Given the description of an element on the screen output the (x, y) to click on. 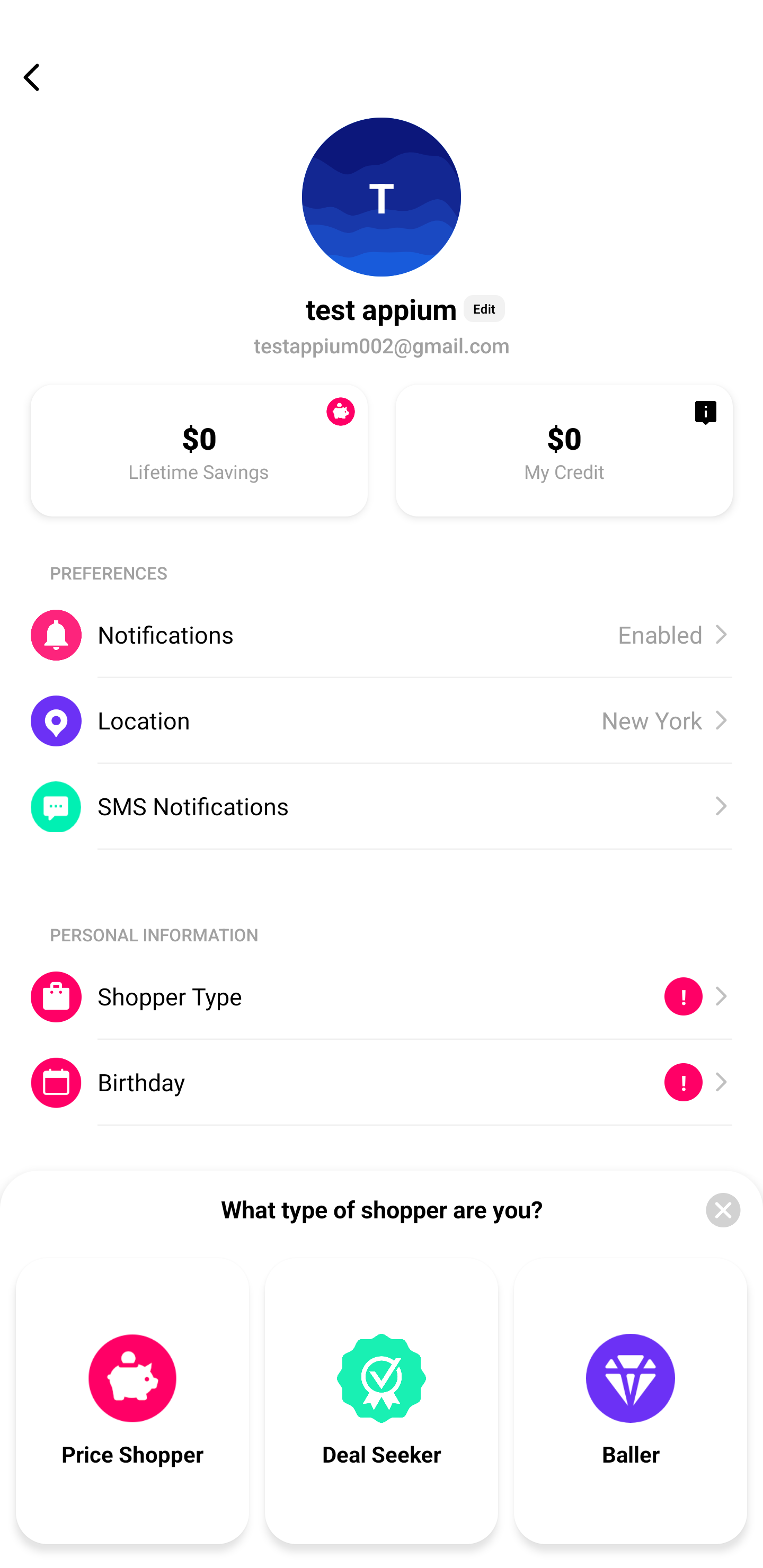
Price Shopper (132, 1400)
Deal Seeker (381, 1400)
Baller (630, 1400)
